Given the description of an element on the screen output the (x, y) to click on. 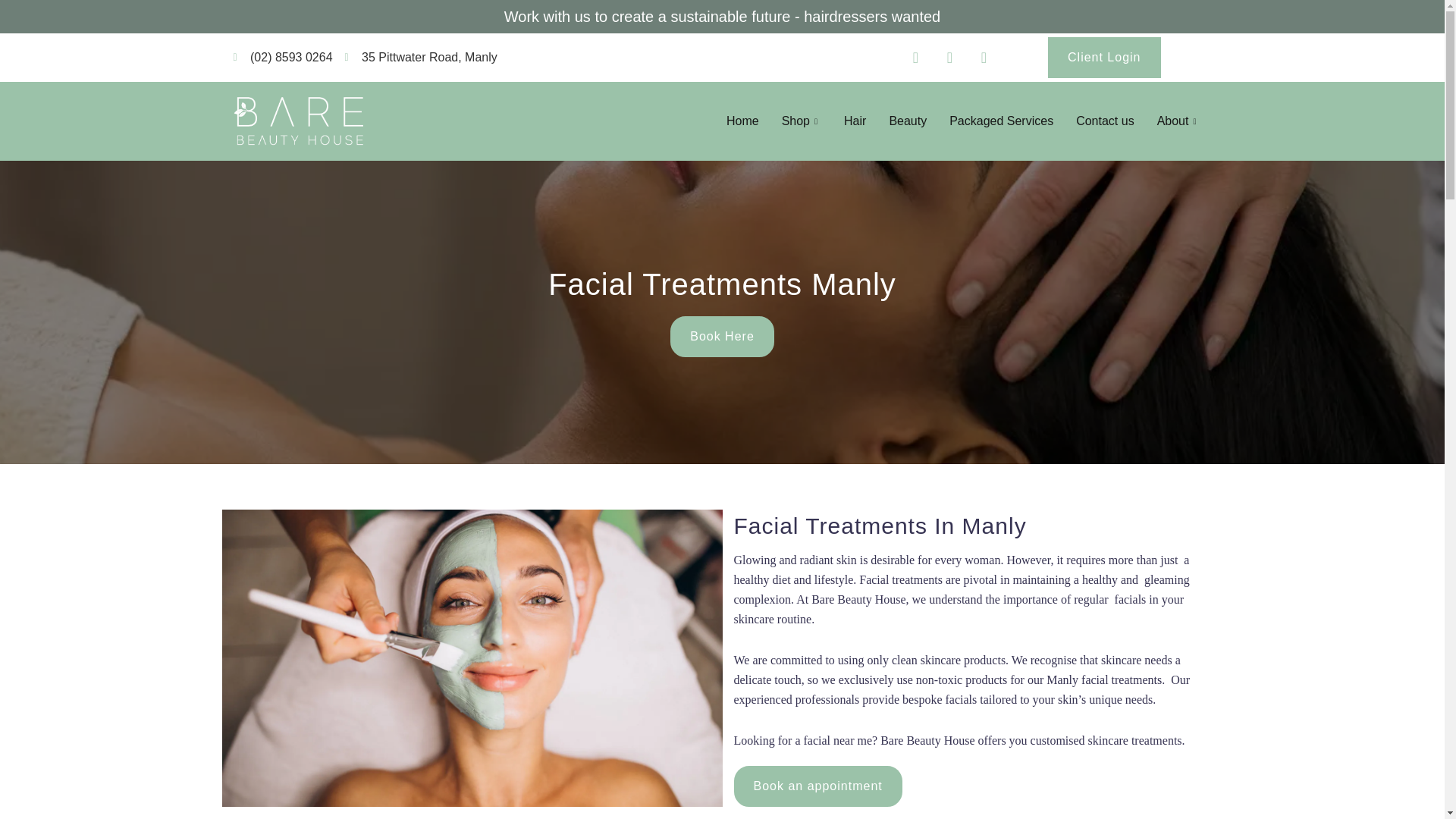
Shop (801, 120)
Client Login (1104, 56)
Contact us (1104, 120)
About (1178, 120)
Home (742, 120)
Packaged Services (1000, 120)
Hair (854, 120)
Beauty (907, 120)
35 Pittwater Road, Manly (421, 57)
